Given the description of an element on the screen output the (x, y) to click on. 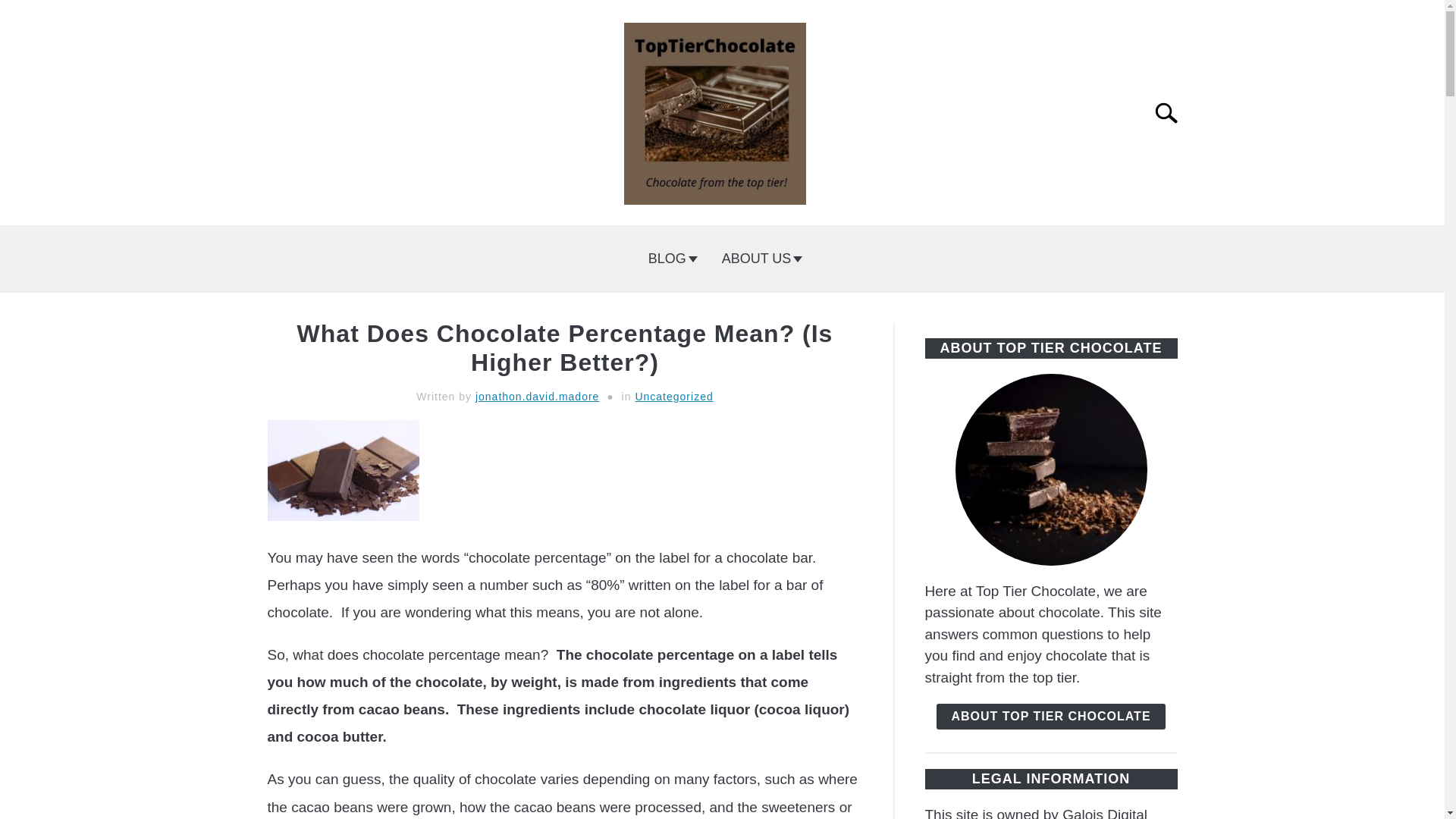
BLOG (669, 258)
Search (1172, 112)
Uncategorized (673, 396)
jonathon.david.madore (537, 396)
ABOUT TOP TIER CHOCOLATE (1050, 716)
ABOUT US (759, 258)
